Given the description of an element on the screen output the (x, y) to click on. 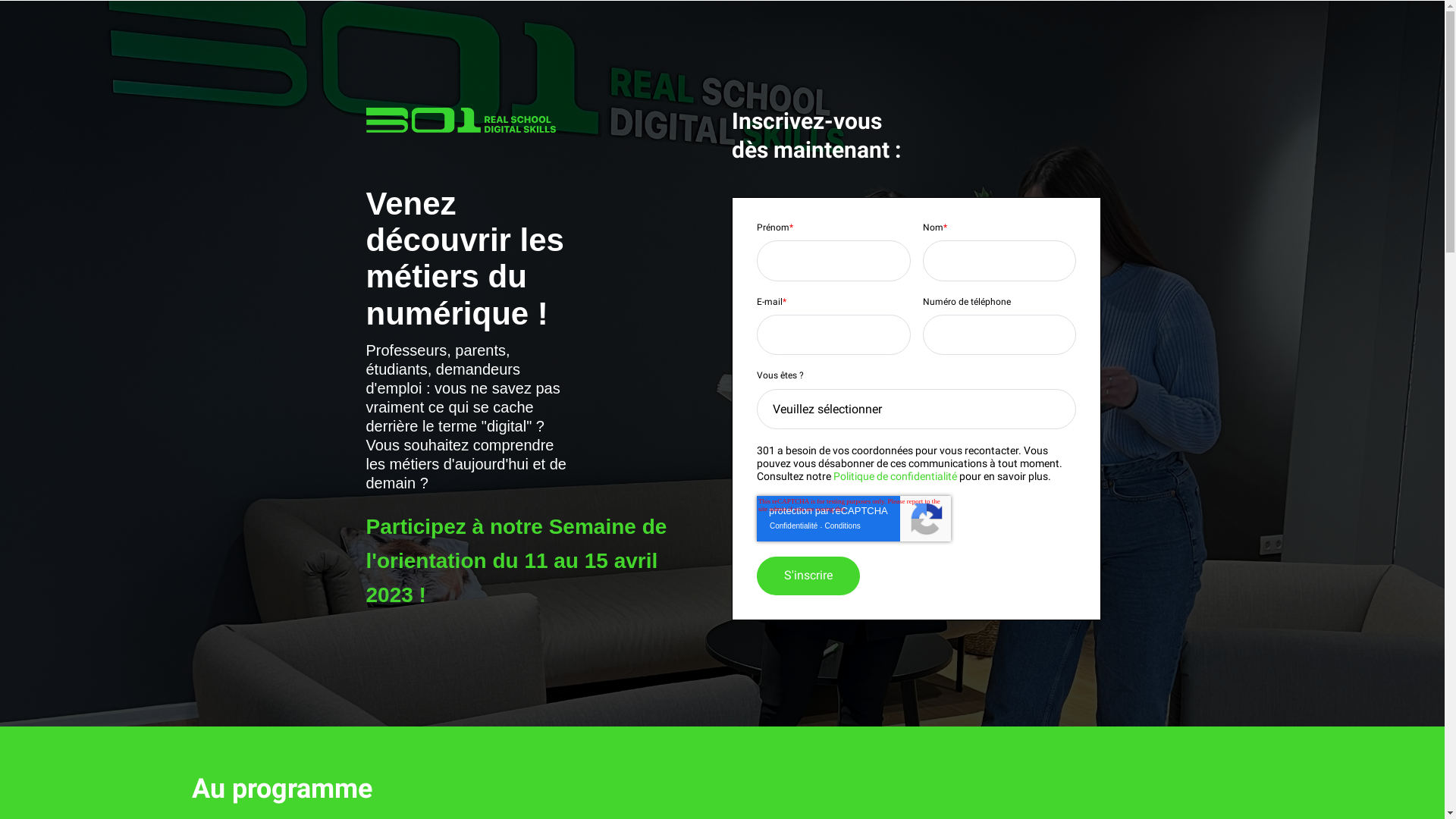
reCAPTCHA Element type: hover (853, 518)
Logo_Horizontal_Vert Element type: hover (460, 119)
S'inscrire Element type: text (807, 575)
